Given the description of an element on the screen output the (x, y) to click on. 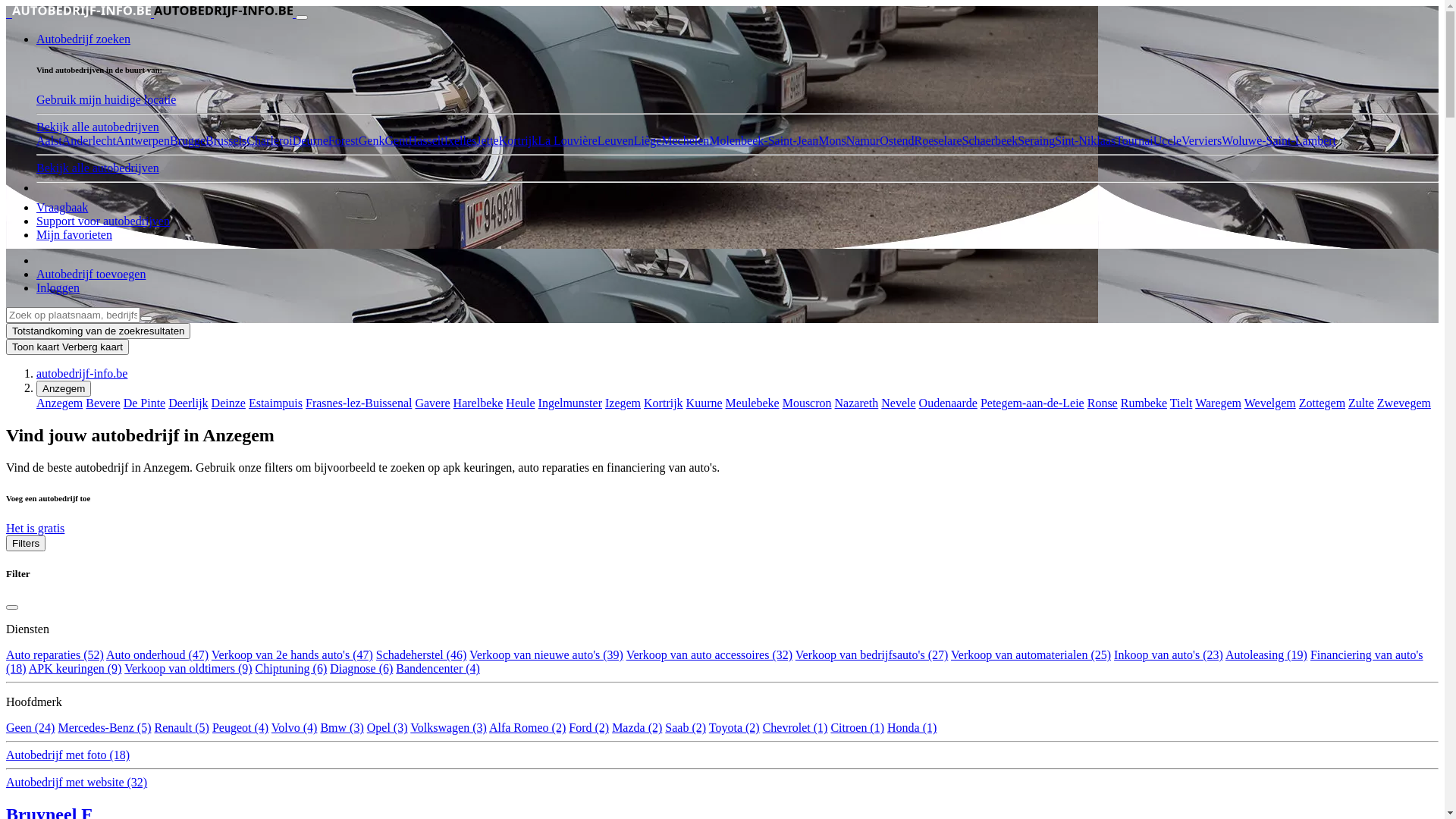
Verkoop van automaterialen (25) Element type: text (1030, 654)
Tournai Element type: text (1134, 140)
Auto reparaties (52) Element type: text (54, 654)
Namur Element type: text (862, 140)
Chevrolet (1) Element type: text (795, 727)
Estaimpuis Element type: text (275, 402)
Schaerbeek Element type: text (990, 140)
Brussels Element type: text (225, 140)
Verkoop van bedrijfsauto's (27) Element type: text (871, 654)
Het is gratis Element type: text (35, 527)
Support voor autobedrijven Element type: text (102, 220)
De Pinte Element type: text (144, 402)
Antwerpen Element type: text (142, 140)
Deinze Element type: text (228, 402)
Zwevegem Element type: text (1403, 402)
Inkoop van auto's (23) Element type: text (1168, 654)
Chiptuning (6) Element type: text (291, 668)
Filters Element type: text (25, 543)
Zottegem Element type: text (1322, 402)
Volkswagen (3) Element type: text (448, 727)
Heule Element type: text (519, 402)
Molenbeek-Saint-Jean Element type: text (763, 140)
Bmw (3) Element type: text (341, 727)
Roeselare Element type: text (938, 140)
Verkoop van auto accessoires (32) Element type: text (709, 654)
Verkoop van 2e hands auto's (47) Element type: text (292, 654)
Bekijk alle autobedrijven Element type: text (97, 167)
Vraagbaak Element type: text (61, 206)
Toyota (2) Element type: text (734, 727)
Gavere Element type: text (431, 402)
Tielt Element type: text (1181, 402)
Wevelgem Element type: text (1269, 402)
Mouscron Element type: text (806, 402)
Oudenaarde Element type: text (948, 402)
Mazda (2) Element type: text (636, 727)
Mechelen Element type: text (685, 140)
Toon kaart Verberg kaart Element type: text (67, 346)
Izegem Element type: text (622, 402)
Citroen (1) Element type: text (857, 727)
Schadeherstel (46) Element type: text (421, 654)
Bevere Element type: text (102, 402)
Financiering van auto's (18) Element type: text (714, 661)
Ingelmunster Element type: text (570, 402)
Autobedrijf met foto (18) Element type: text (67, 754)
Ronse Element type: text (1102, 402)
Kortrijk Element type: text (663, 402)
Deurne Element type: text (310, 140)
Petegem-aan-de-Leie Element type: text (1032, 402)
Ostend Element type: text (896, 140)
Auto onderhoud (47) Element type: text (157, 654)
Zulte Element type: text (1361, 402)
Autobedrijf toevoegen Element type: text (90, 273)
Autoleasing (19) Element type: text (1266, 654)
Renault (5) Element type: text (180, 727)
Ford (2) Element type: text (588, 727)
Hasselt Element type: text (426, 140)
Nazareth Element type: text (856, 402)
Verviers Element type: text (1201, 140)
Jette Element type: text (487, 140)
Autobedrijf met website (32) Element type: text (76, 781)
Gebruik mijn huidige locatie Element type: text (105, 99)
Bekijk alle autobedrijven Element type: text (97, 126)
Frasnes-lez-Buissenal Element type: text (358, 402)
Alfa Romeo (2) Element type: text (527, 727)
Charleroi Element type: text (268, 140)
Uccle Element type: text (1167, 140)
Honda (1) Element type: text (911, 727)
Anzegem Element type: text (63, 388)
Bandencenter (4) Element type: text (437, 668)
Autobedrijf zoeken Element type: text (83, 38)
Opel (3) Element type: text (387, 727)
autobedrijf-info.be Element type: text (81, 373)
Anderlecht Element type: text (89, 140)
Seraing Element type: text (1035, 140)
Woluwe-Saint-Lambert Element type: text (1278, 140)
Brugge Element type: text (187, 140)
Saab (2) Element type: text (685, 727)
Kortrijk Element type: text (518, 140)
Aalst Element type: text (49, 140)
Ixelles Element type: text (460, 140)
Nevele Element type: text (898, 402)
Harelbeke Element type: text (478, 402)
Mons Element type: text (831, 140)
Diagnose (6) Element type: text (360, 668)
Totstandkoming van de zoekresultaten Element type: text (98, 330)
Verkoop van nieuwe auto's (39) Element type: text (546, 654)
APK keuringen (9) Element type: text (75, 668)
Genk Element type: text (371, 140)
Rumbeke Element type: text (1143, 402)
Deerlijk Element type: text (187, 402)
Verkoop van oldtimers (9) Element type: text (187, 668)
Anzegem Element type: text (59, 402)
Sint-Niklaas Element type: text (1084, 140)
Mercedes-Benz (5) Element type: text (103, 727)
Meulebeke Element type: text (752, 402)
Kuurne Element type: text (704, 402)
Peugeot (4) Element type: text (240, 727)
Waregem Element type: text (1218, 402)
Inloggen Element type: text (57, 287)
Mijn favorieten Element type: text (74, 234)
Leuven Element type: text (615, 140)
Volvo (4) Element type: text (294, 727)
Forest Element type: text (343, 140)
Gent Element type: text (395, 140)
Geen (24) Element type: text (30, 727)
